Given the description of an element on the screen output the (x, y) to click on. 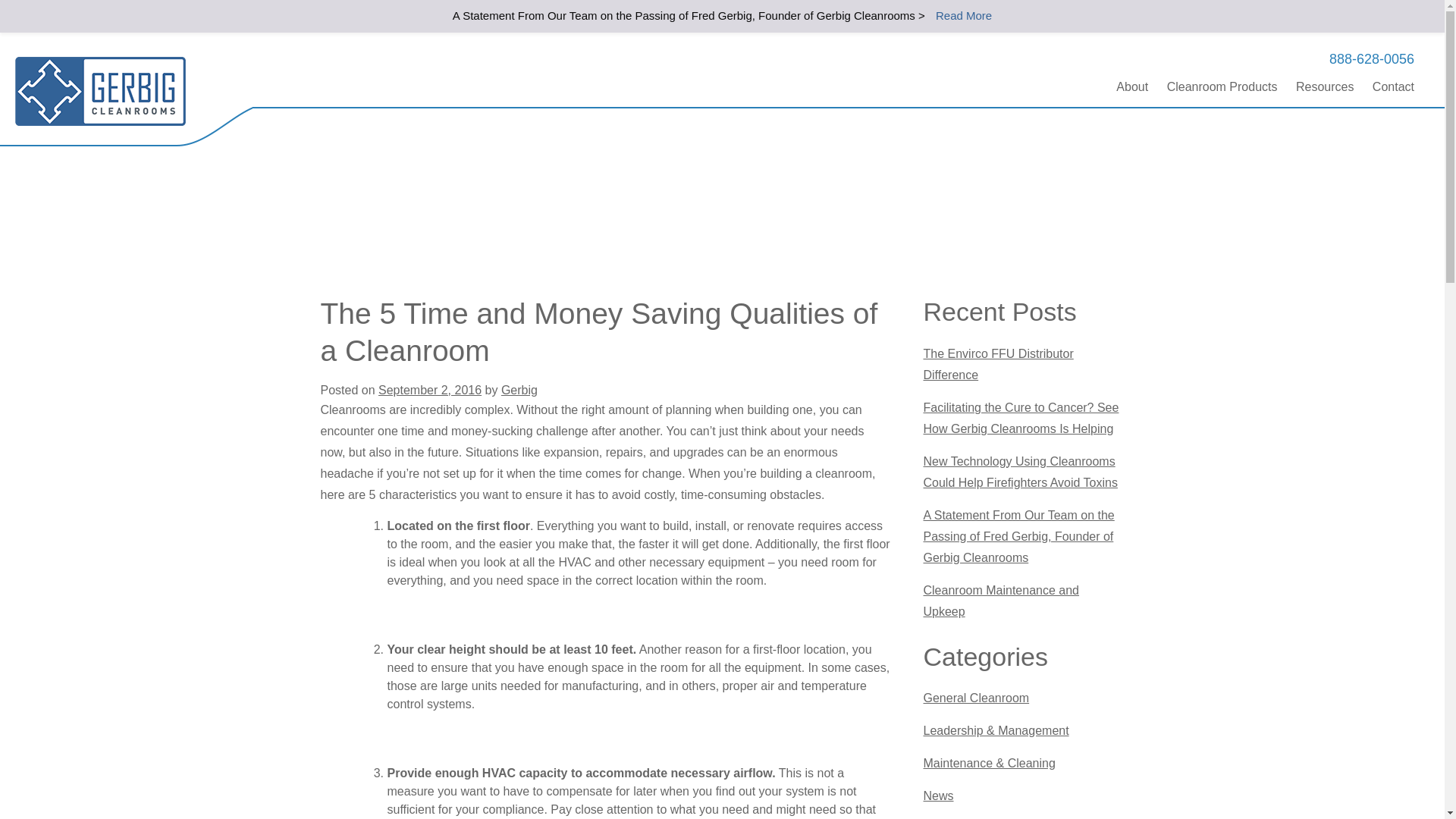
Gerbig (518, 390)
Read More (963, 15)
AireCell (100, 91)
Cleanroom Maintenance and Upkeep (1000, 600)
Contact (1393, 86)
General Cleanroom (976, 697)
The Envirco FFU Distributor Difference (998, 364)
Resources (1324, 86)
